Given the description of an element on the screen output the (x, y) to click on. 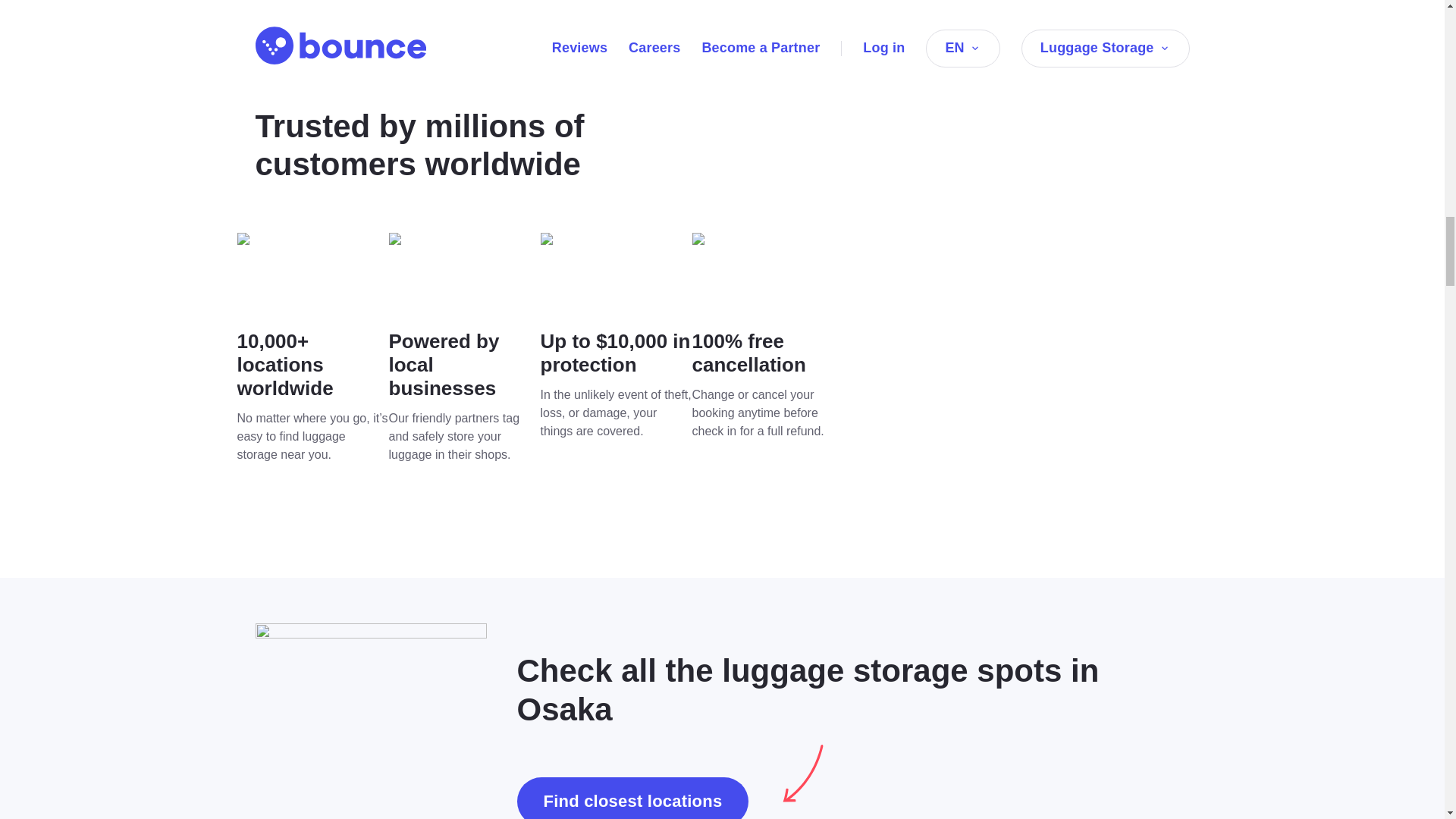
Find closest locations (632, 798)
